Given the description of an element on the screen output the (x, y) to click on. 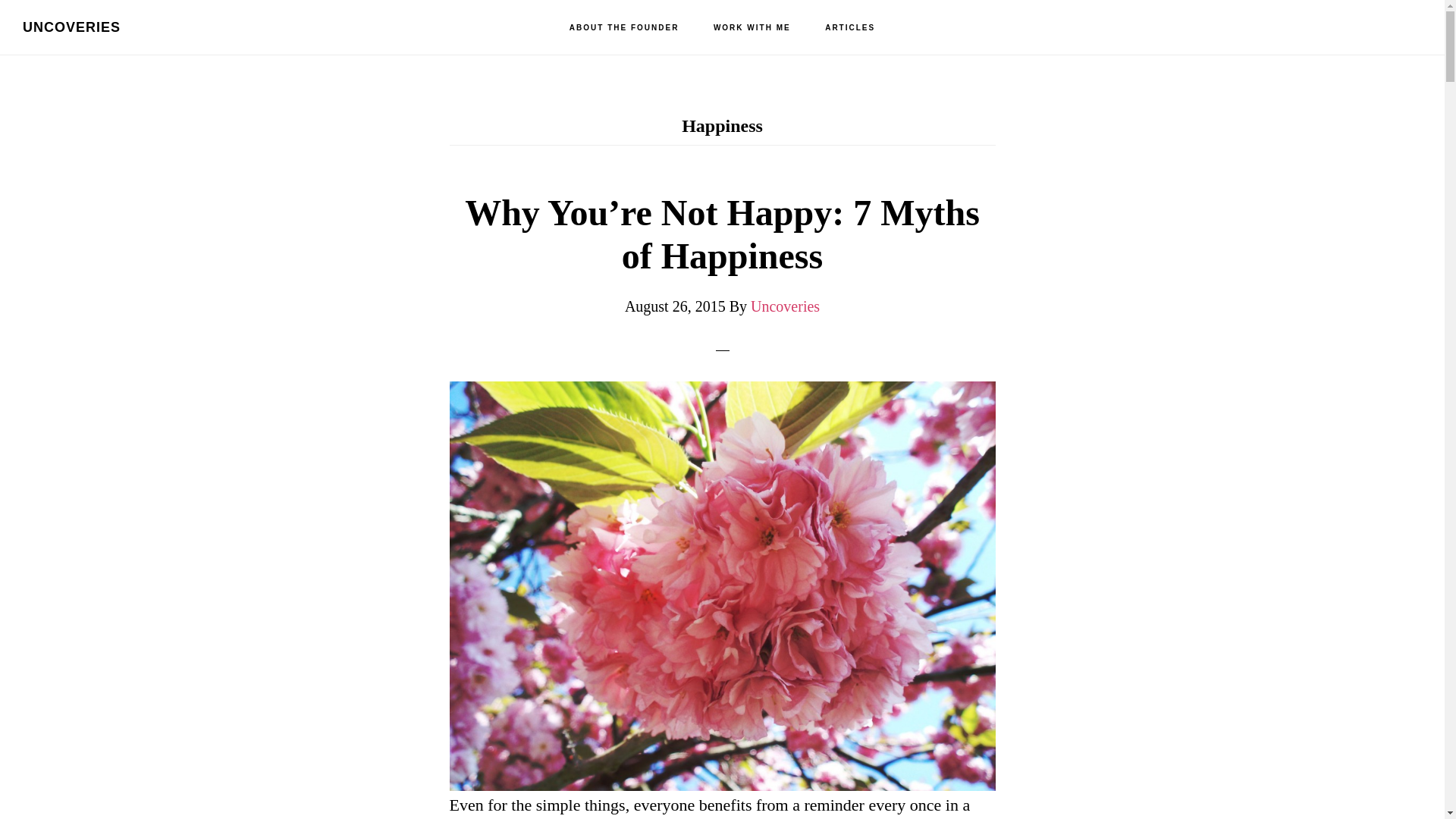
UNCOVERIES (71, 27)
WORK WITH ME (752, 27)
Uncoveries (785, 306)
ABOUT THE FOUNDER (624, 27)
ARTICLES (849, 27)
